Given the description of an element on the screen output the (x, y) to click on. 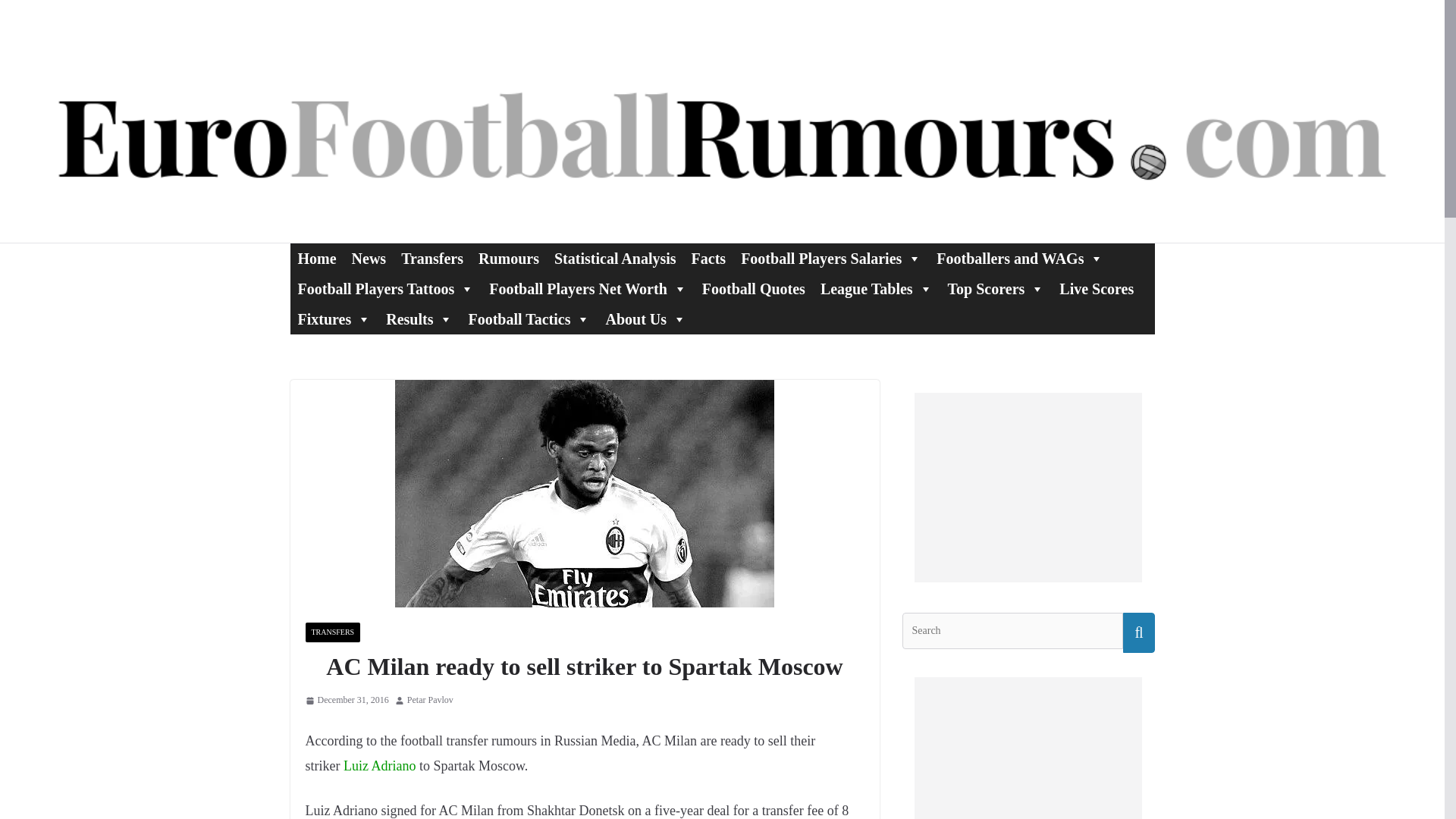
News (368, 258)
Home (316, 258)
Rumours (508, 258)
Transfers (431, 258)
Petar Pavlov (429, 700)
Football Players Salaries (830, 258)
Facts (708, 258)
Statistical Analysis (615, 258)
8:43 am (346, 700)
